Given the description of an element on the screen output the (x, y) to click on. 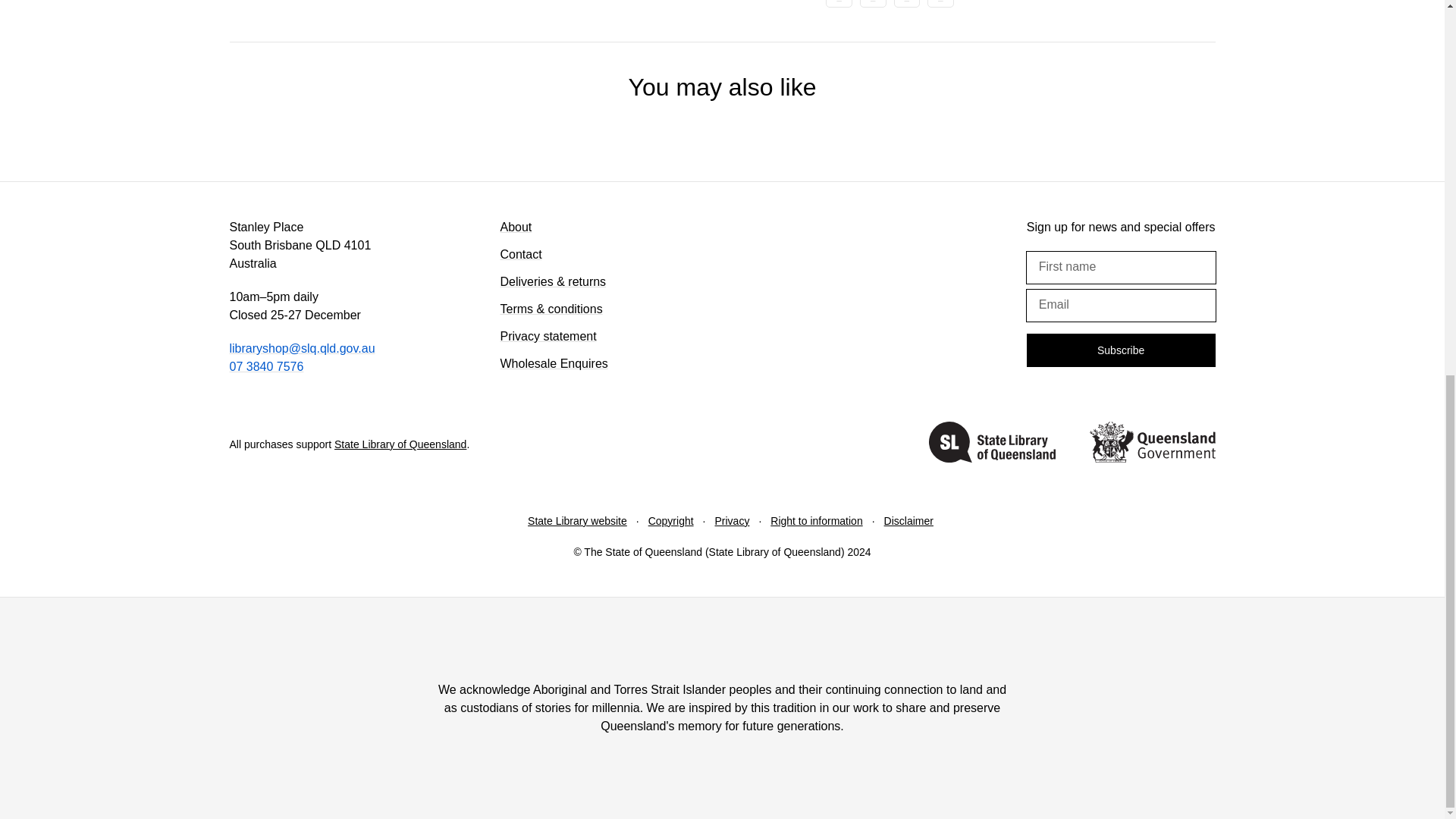
Go to Queensland Government homepage (1151, 444)
tel:07 3840 7576 (265, 366)
Go to Queensland State Library homepage (992, 444)
